Given the description of an element on the screen output the (x, y) to click on. 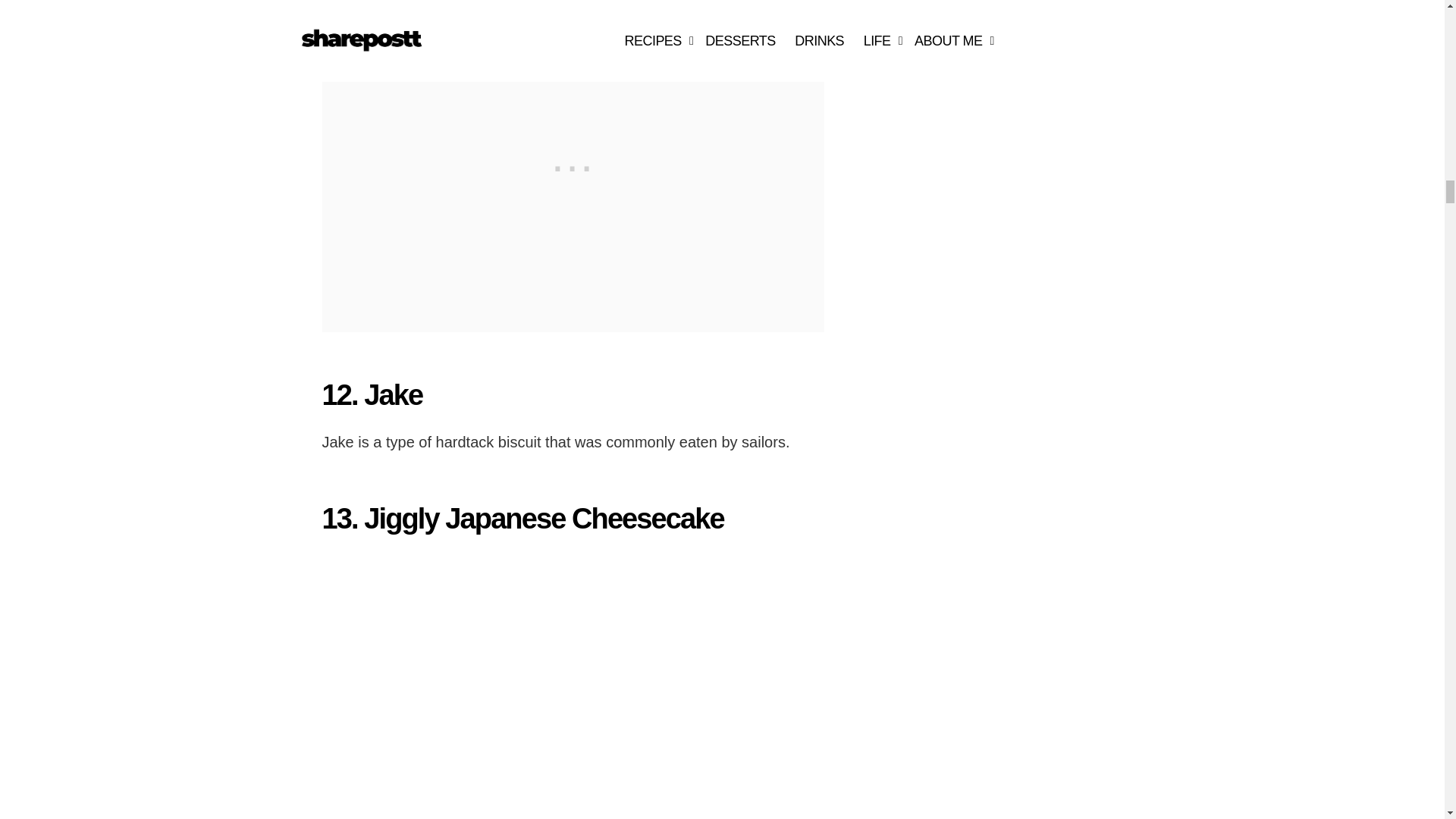
Jiggly Japanese cheesecake (491, 685)
